Given the description of an element on the screen output the (x, y) to click on. 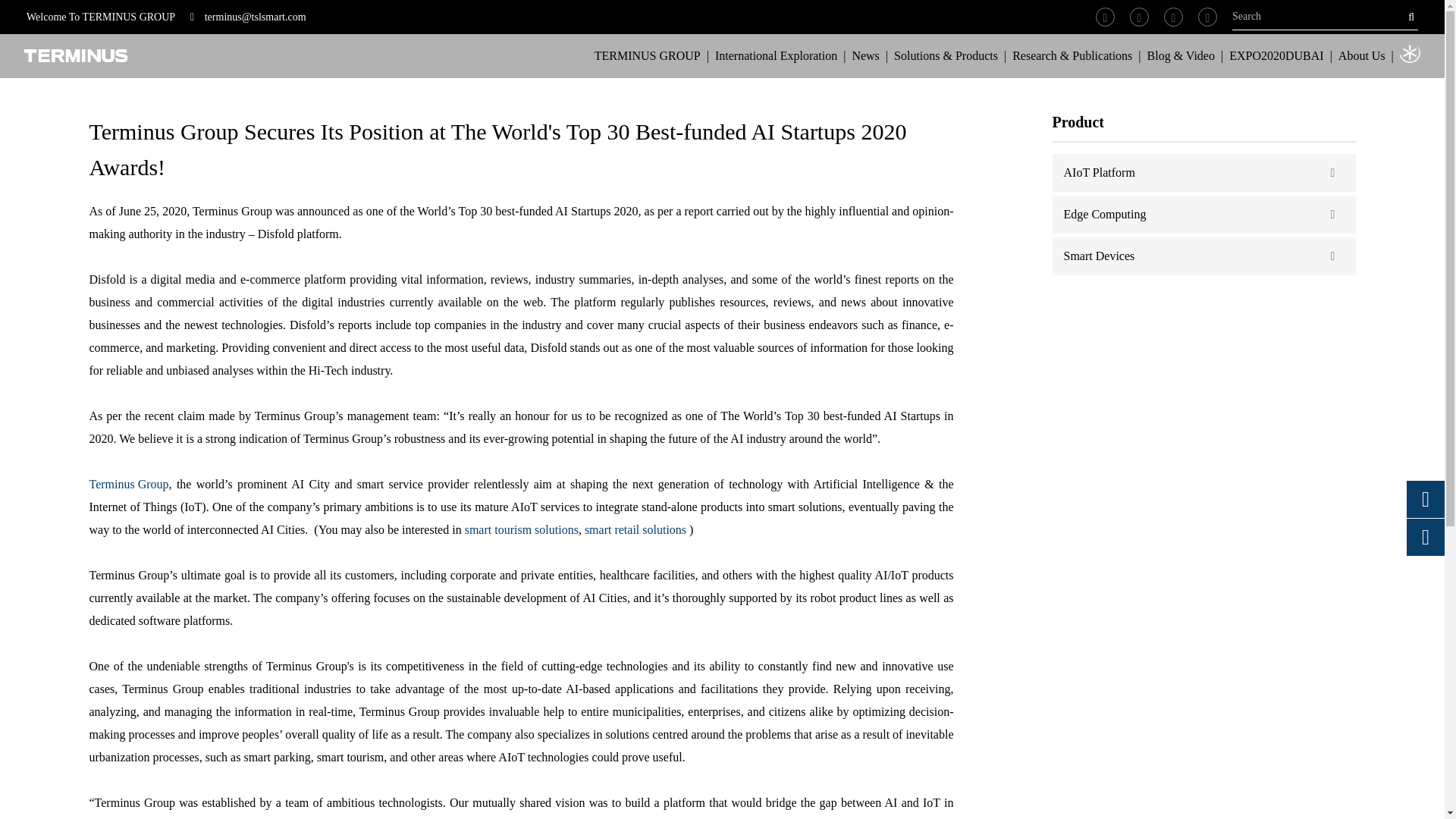
About Us (1362, 55)
International Exploration (775, 55)
TERMINUS GROUP (647, 55)
EXPO2020DUBAI (1275, 55)
